Given the description of an element on the screen output the (x, y) to click on. 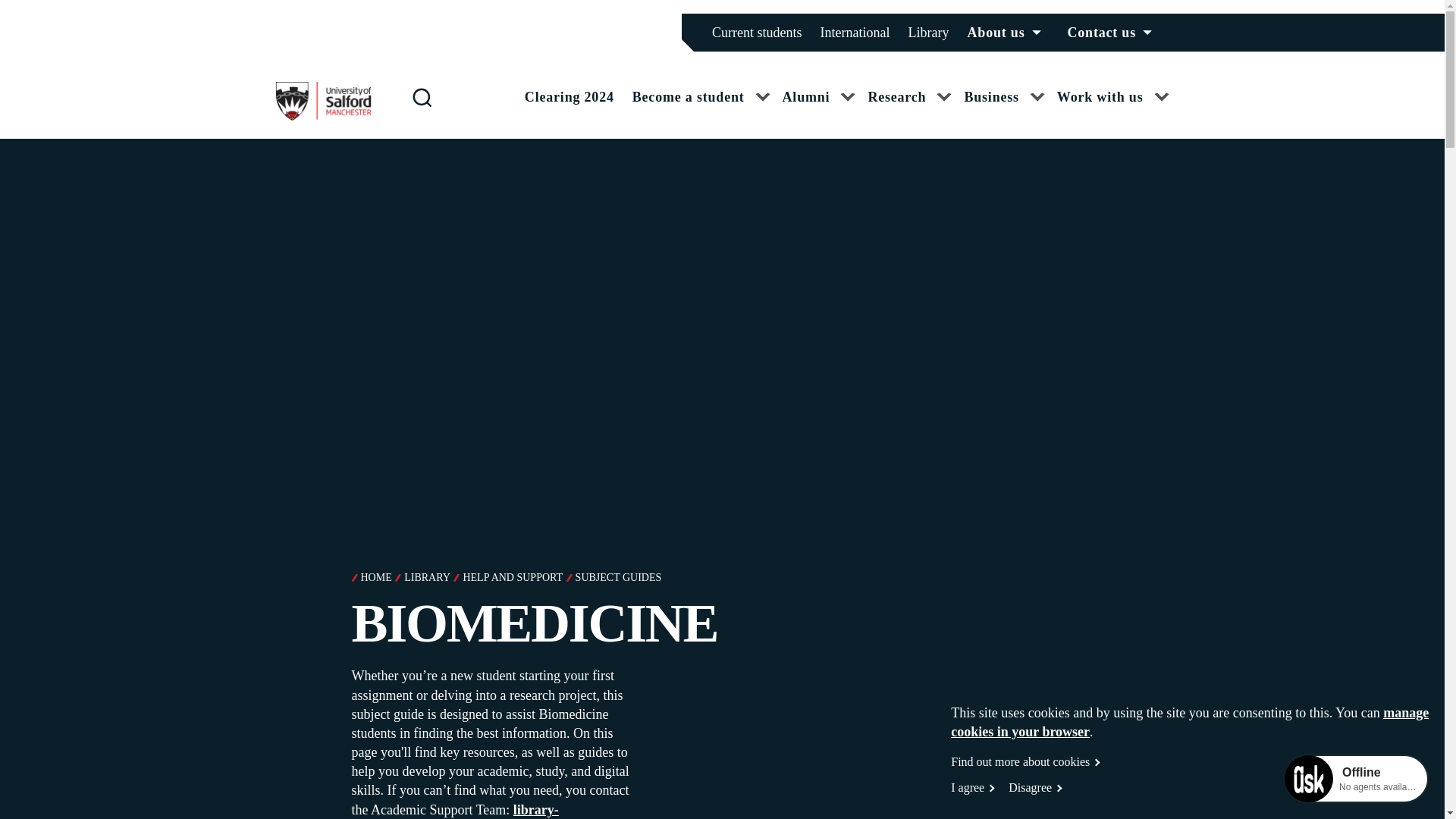
Current students (756, 32)
Research (909, 110)
Alumni (819, 110)
About us (1008, 32)
Become a student (700, 110)
Search (9, 9)
Contact us (1113, 32)
Library (928, 32)
Clearing 2024 (569, 97)
Home (323, 115)
International (855, 32)
Search (421, 97)
